Given the description of an element on the screen output the (x, y) to click on. 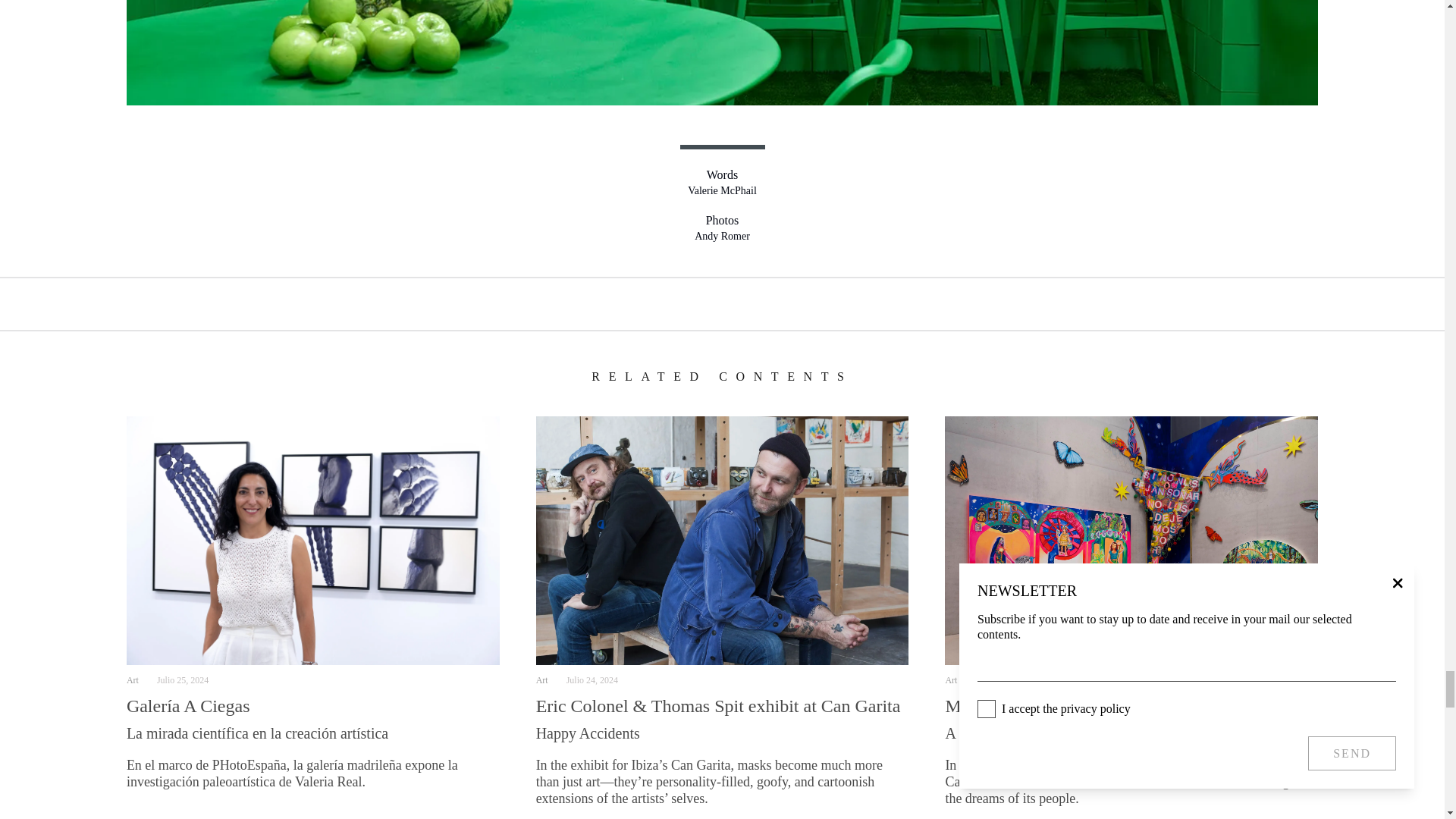
Art (132, 679)
